Given the description of an element on the screen output the (x, y) to click on. 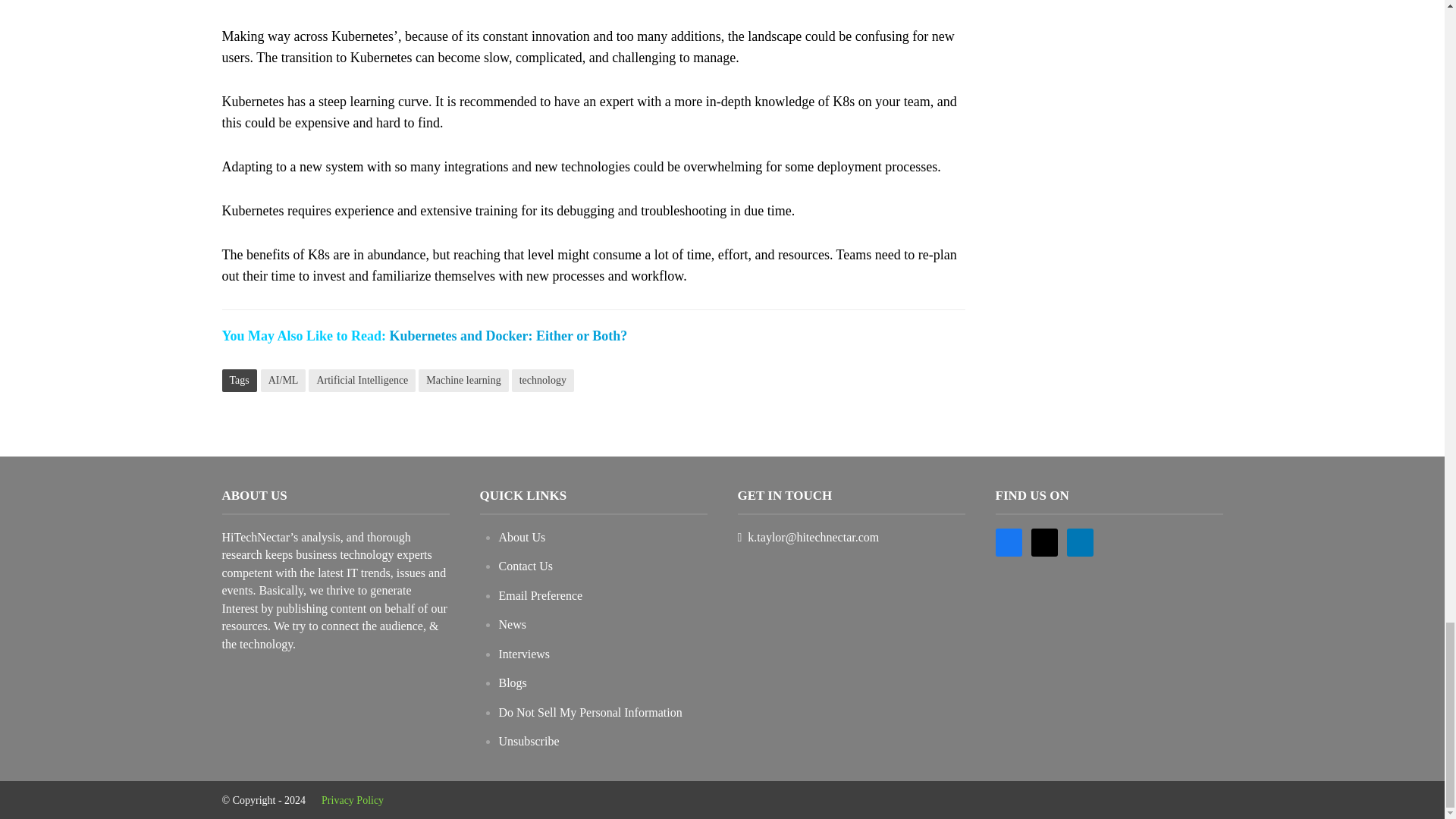
Kubernetes and Docker: Either or Both? (508, 336)
Artificial Intelligence (361, 380)
Machine learning (463, 380)
